Given the description of an element on the screen output the (x, y) to click on. 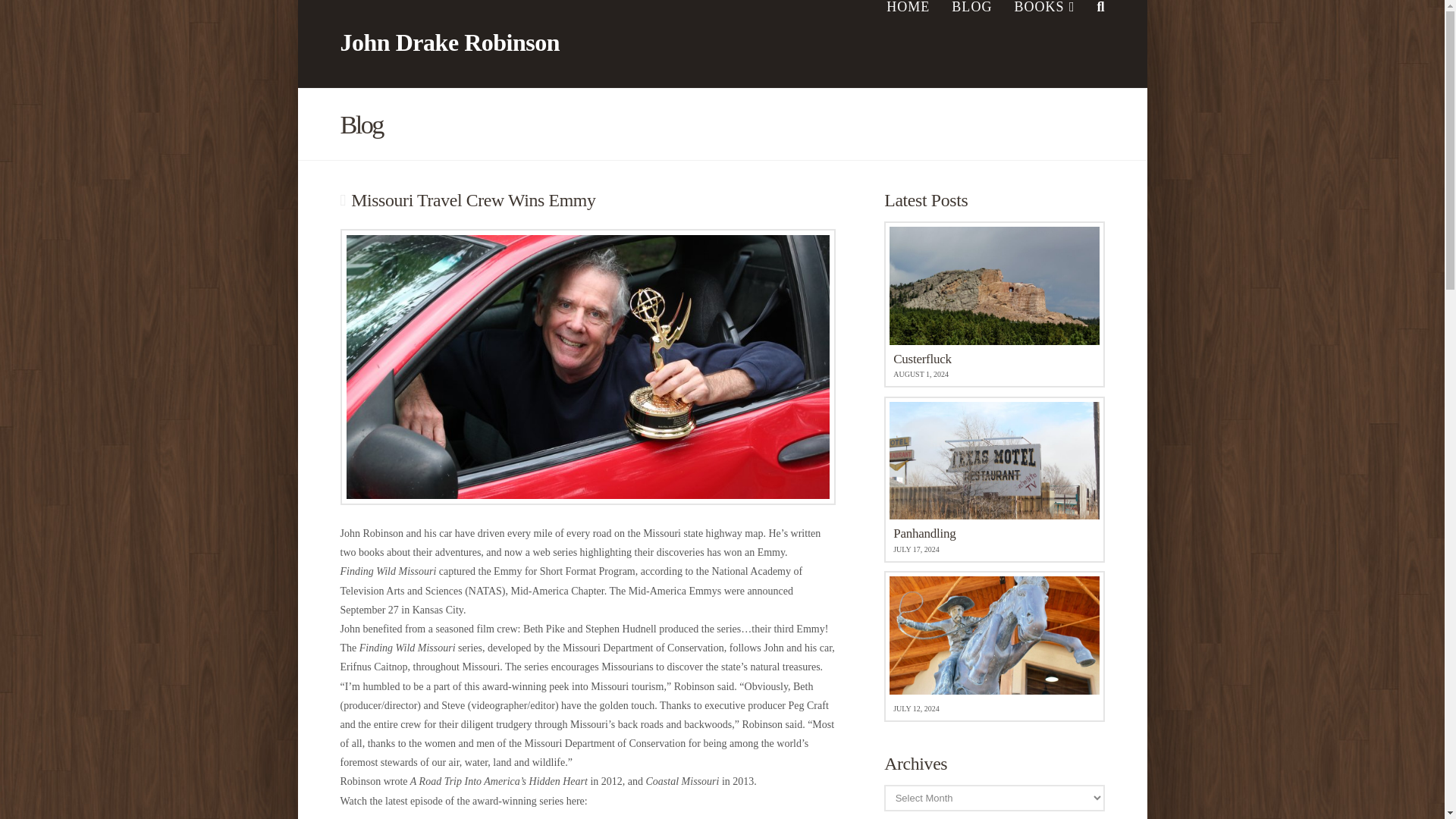
John Drake Robinson (449, 42)
Permalink to: "" (993, 479)
Permalink to: "Panhandling" (993, 645)
Permalink to: "Custerfluck" (993, 479)
BOOKS (993, 304)
JULY 12, 2024 (1043, 43)
